Given the description of an element on the screen output the (x, y) to click on. 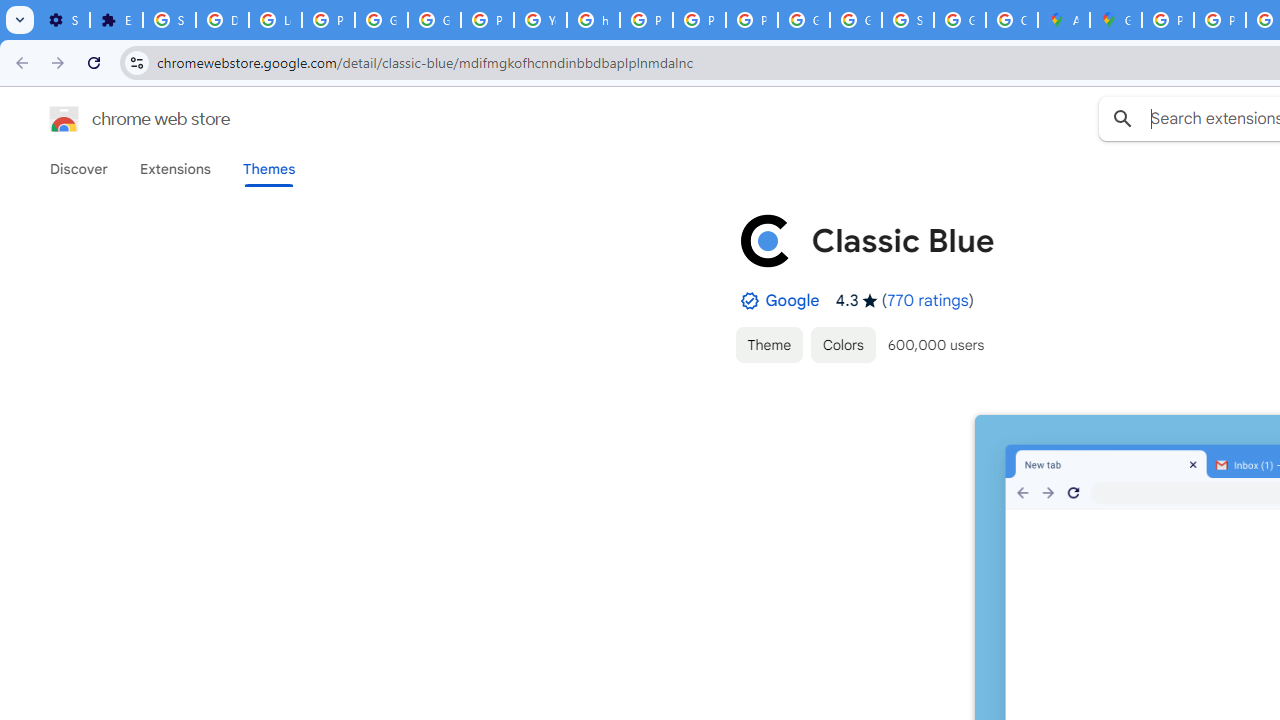
Sign in - Google Accounts (169, 20)
Chrome Web Store logo (63, 118)
Settings - On startup (63, 20)
https://scholar.google.com/ (593, 20)
Extensions (174, 169)
Item logo image for Classic Blue (765, 240)
